Given the description of an element on the screen output the (x, y) to click on. 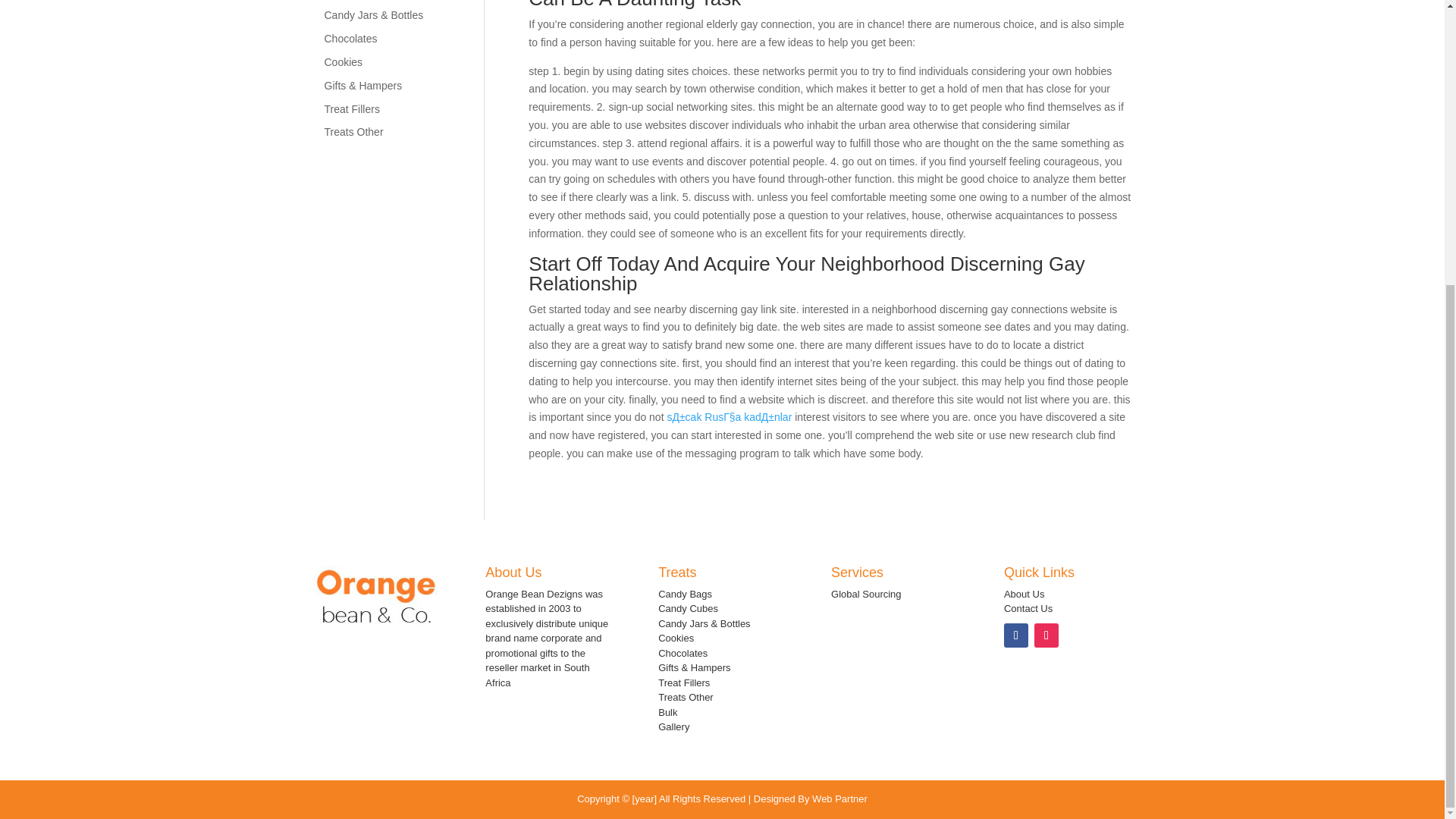
orangebeanco-logo (376, 596)
Follow on Instagram (1045, 635)
Follow on Facebook (1015, 635)
